Given the description of an element on the screen output the (x, y) to click on. 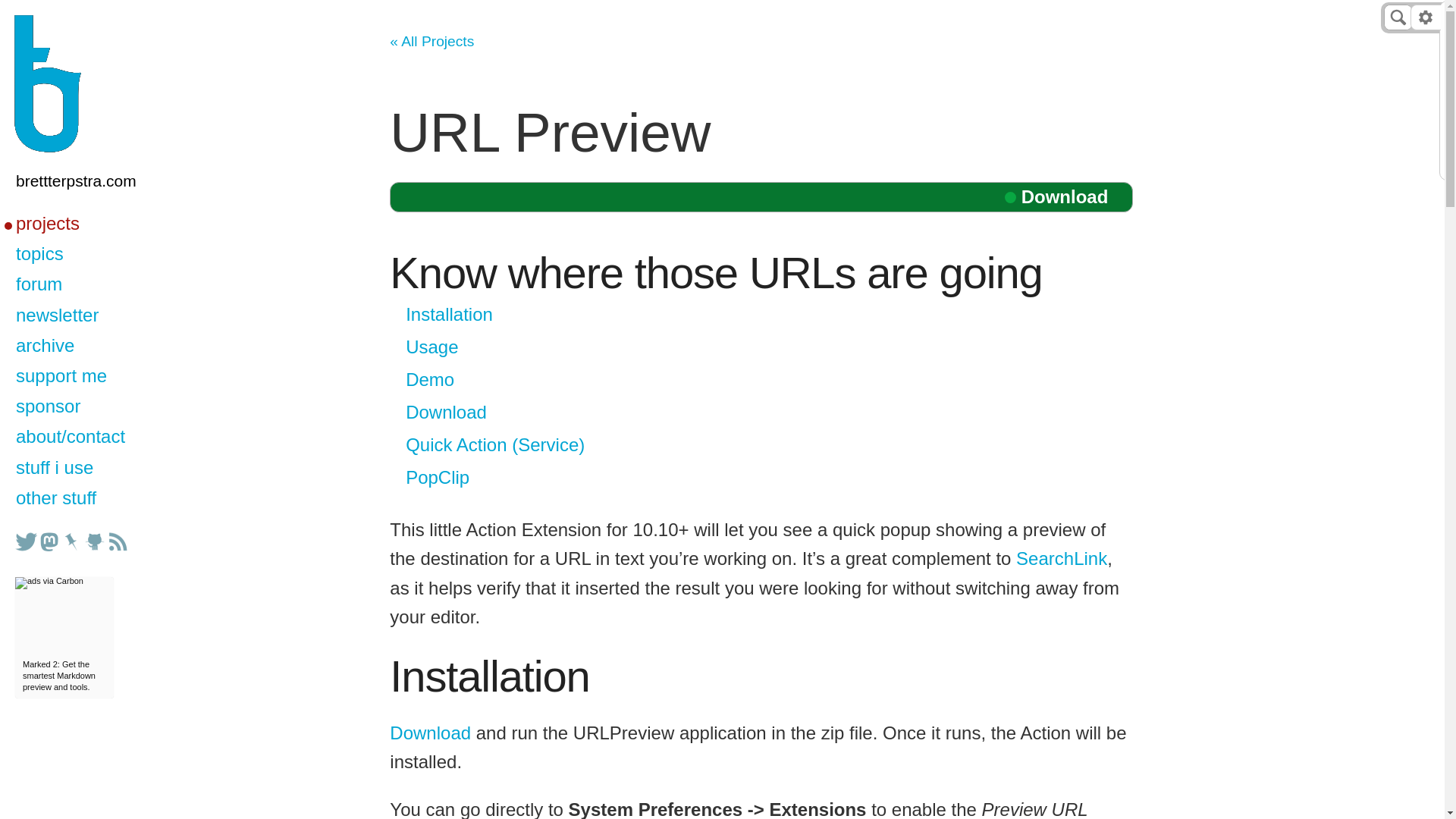
ttscoff on pinboard (71, 541)
ttscoff on github (94, 541)
topics (90, 254)
a (90, 84)
projects (90, 224)
brettterpstra.com (90, 181)
forum (90, 285)
ttscoff on twitter (25, 541)
SearchLink (1061, 557)
ttscoff on mastodon (49, 541)
